Given the description of an element on the screen output the (x, y) to click on. 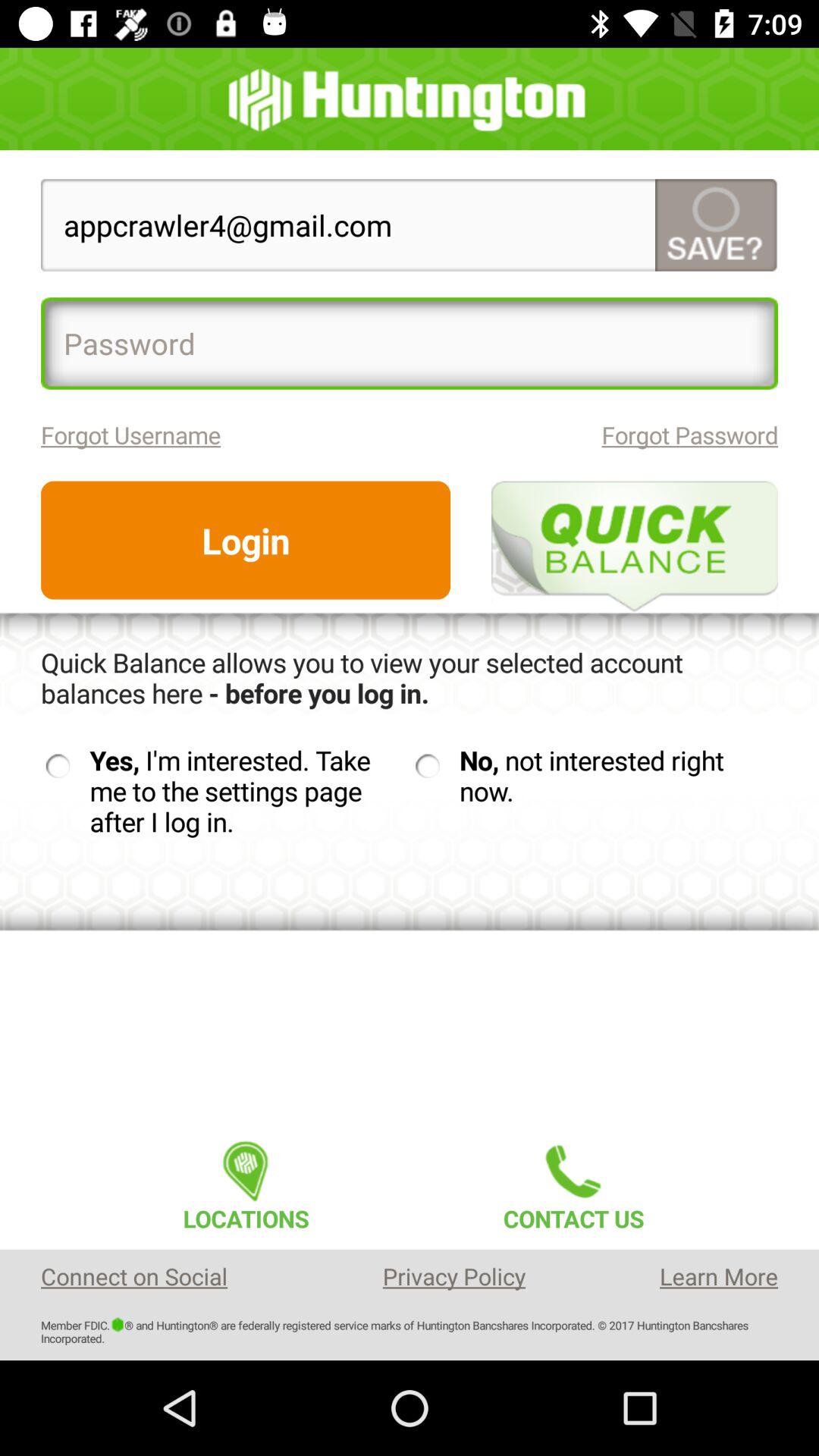
turn off item next to the locations (573, 1181)
